Given the description of an element on the screen output the (x, y) to click on. 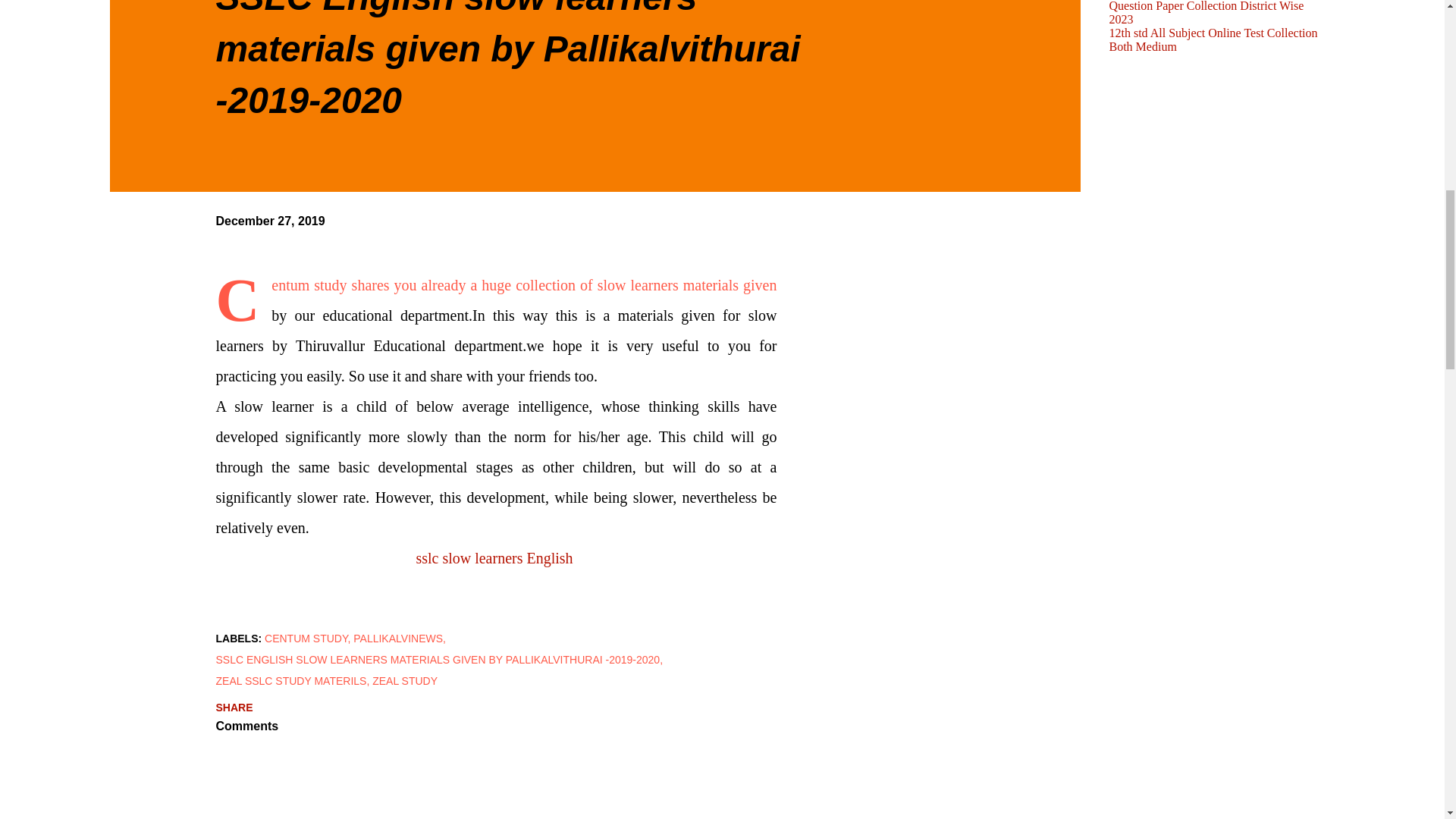
PALLIKALVINEWS (399, 638)
December 27, 2019 (269, 220)
permanent link (269, 220)
sslc slow learners English  (495, 557)
CENTUM STUDY (307, 638)
